Given the description of an element on the screen output the (x, y) to click on. 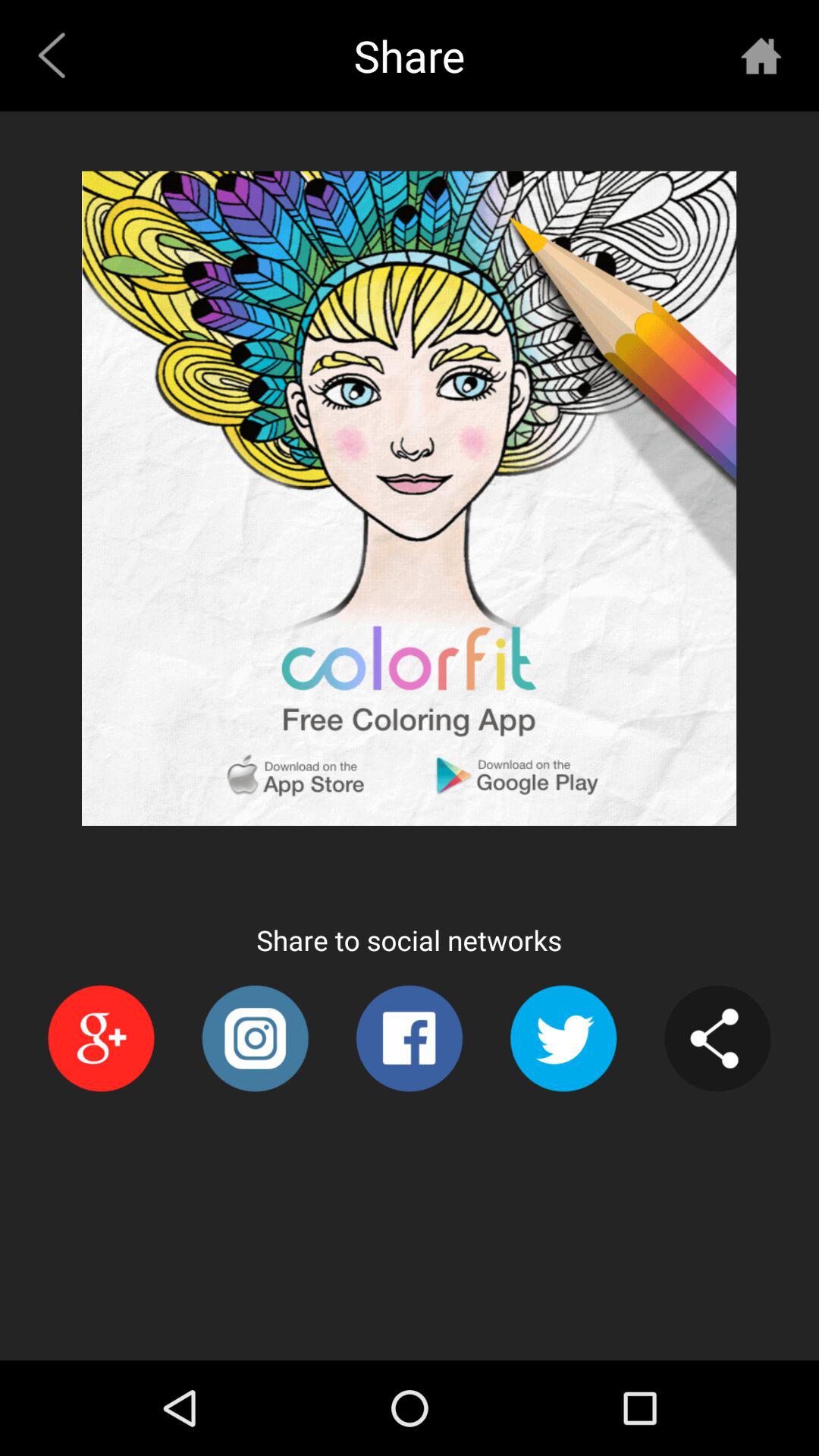
go to home page (761, 55)
